Given the description of an element on the screen output the (x, y) to click on. 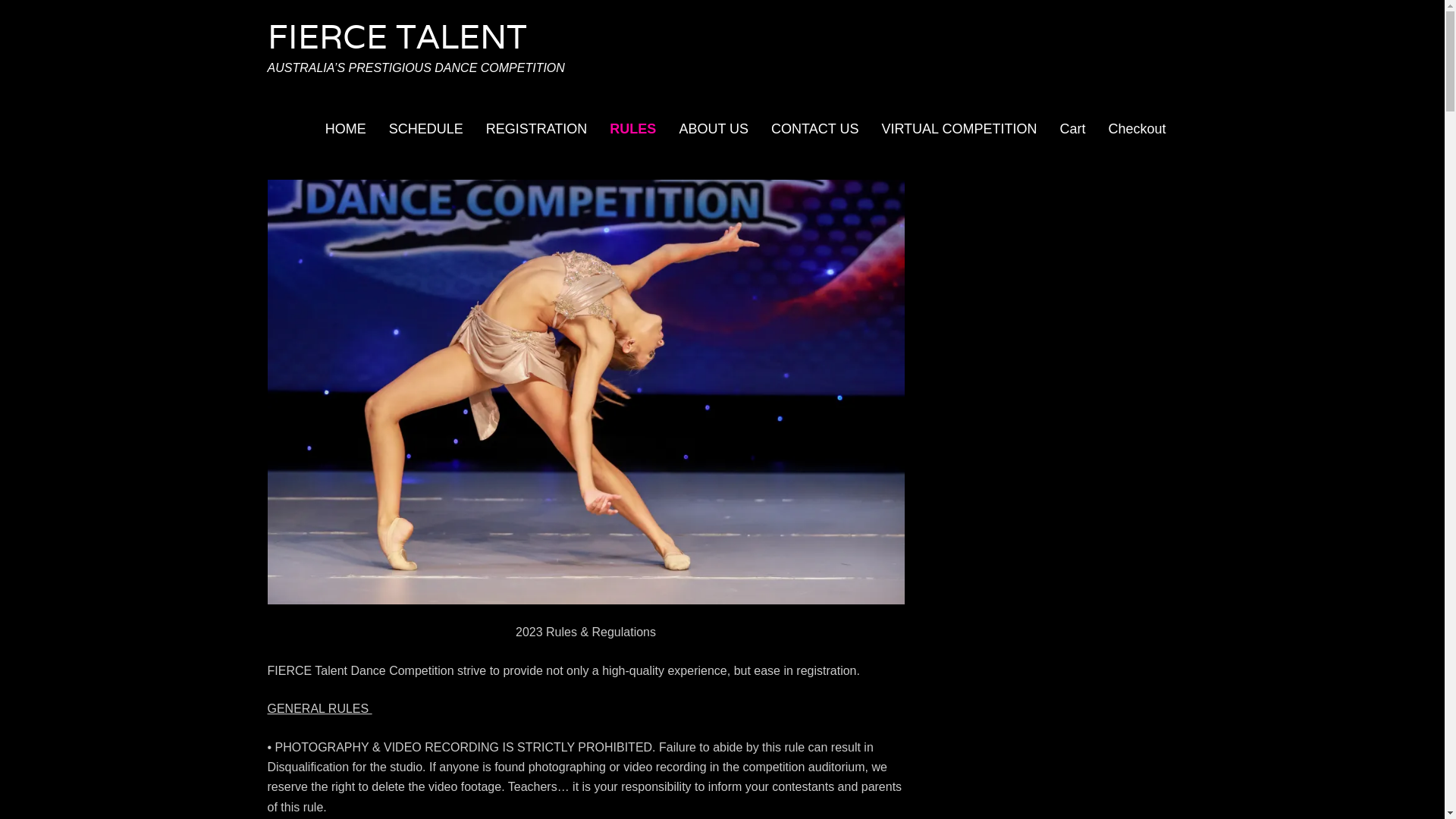
Checkout Element type: text (1136, 129)
RULES Element type: text (632, 129)
FIERCE TALENT Element type: text (396, 36)
REGISTRATION Element type: text (536, 129)
HOME Element type: text (345, 129)
Cart Element type: text (1072, 129)
VIRTUAL COMPETITION Element type: text (958, 129)
ABOUT US Element type: text (713, 129)
CONTACT US Element type: text (814, 129)
SCHEDULE Element type: text (425, 129)
